Given the description of an element on the screen output the (x, y) to click on. 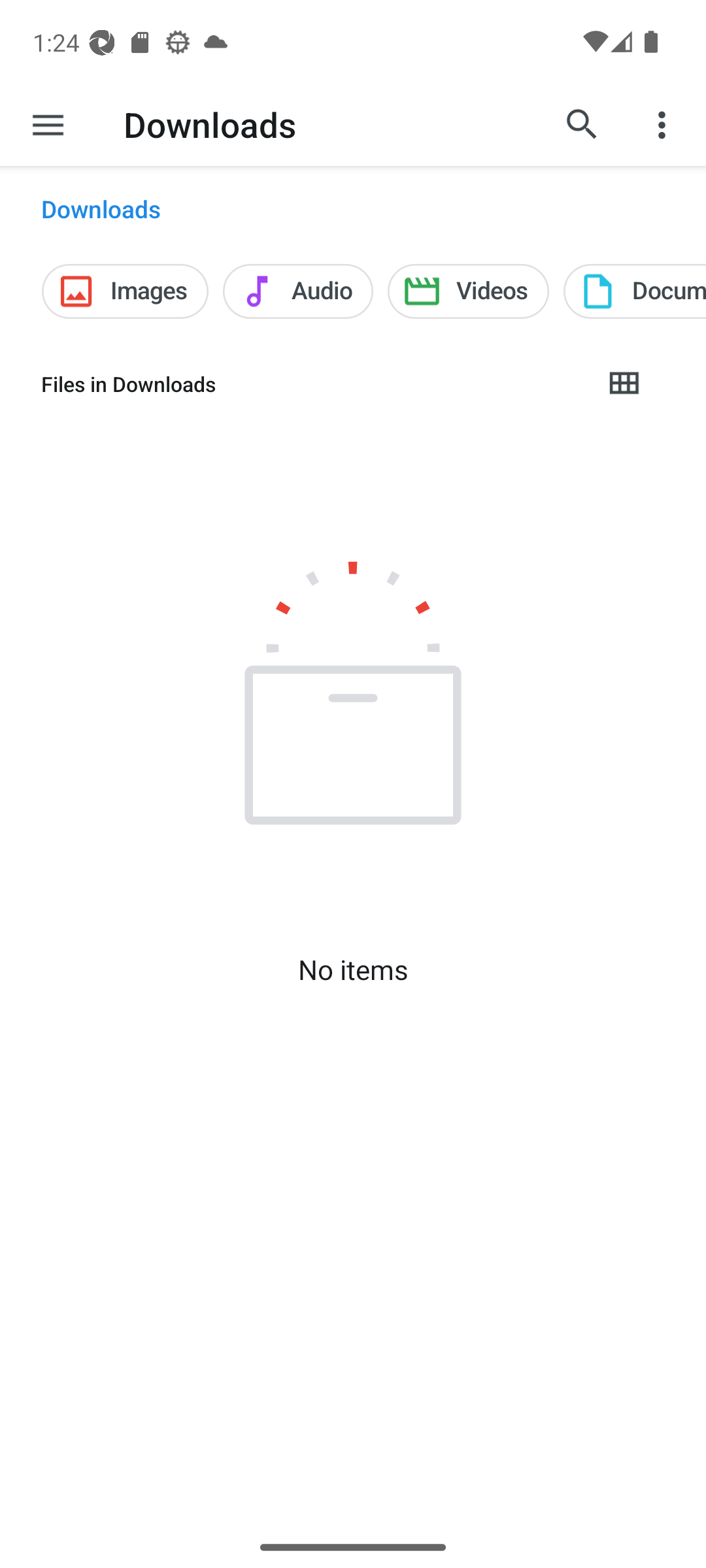
Show roots (48, 124)
Search (581, 124)
More options (664, 124)
Images (124, 291)
Audio (298, 291)
Videos (468, 291)
Documents (634, 291)
Grid view (623, 383)
